Given the description of an element on the screen output the (x, y) to click on. 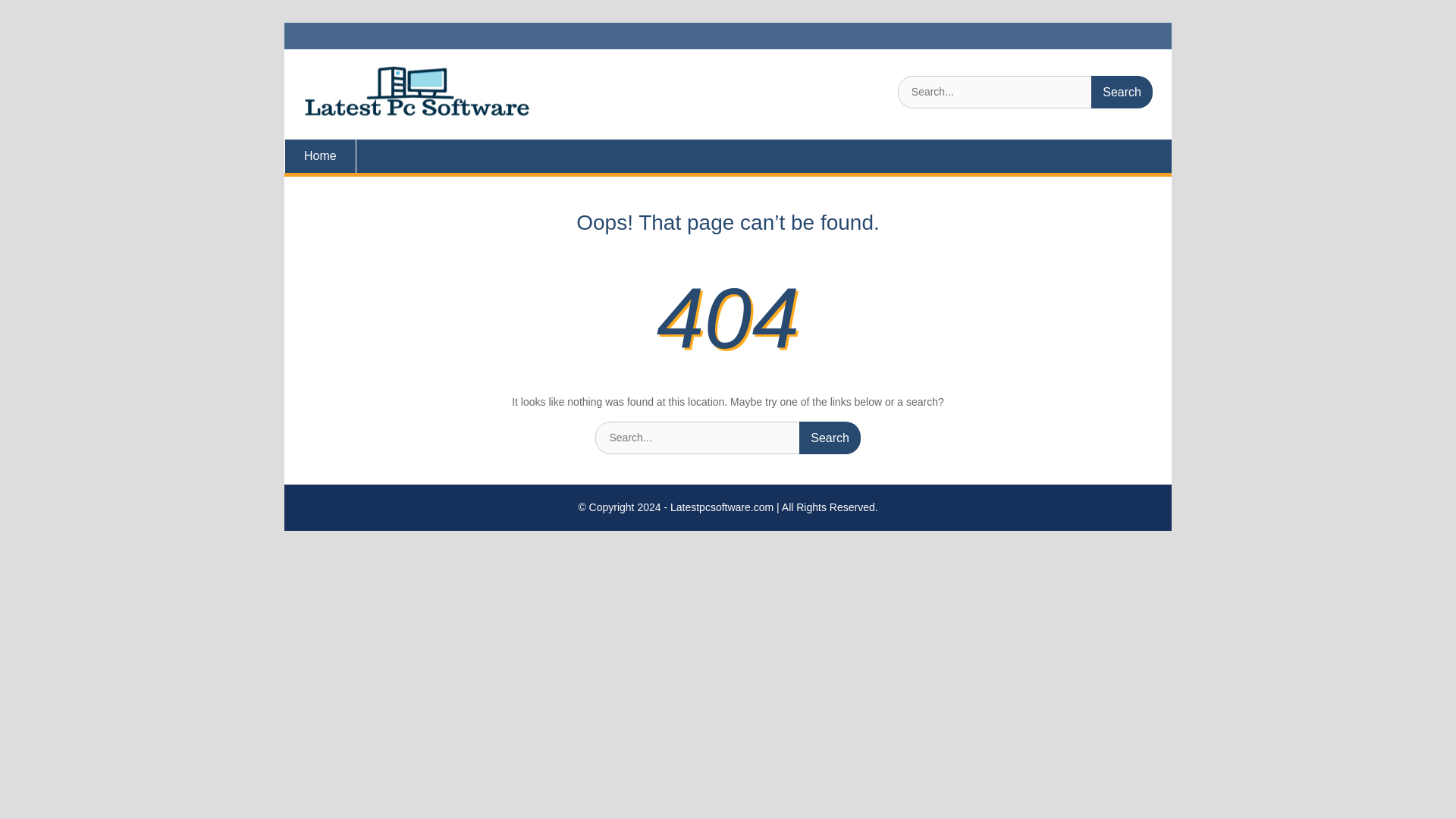
Search (1121, 92)
Search (829, 437)
Search (829, 437)
Search (1121, 92)
Search for: (1025, 92)
Search (829, 437)
Home (319, 155)
Search for: (727, 437)
Search (1121, 92)
